Given the description of an element on the screen output the (x, y) to click on. 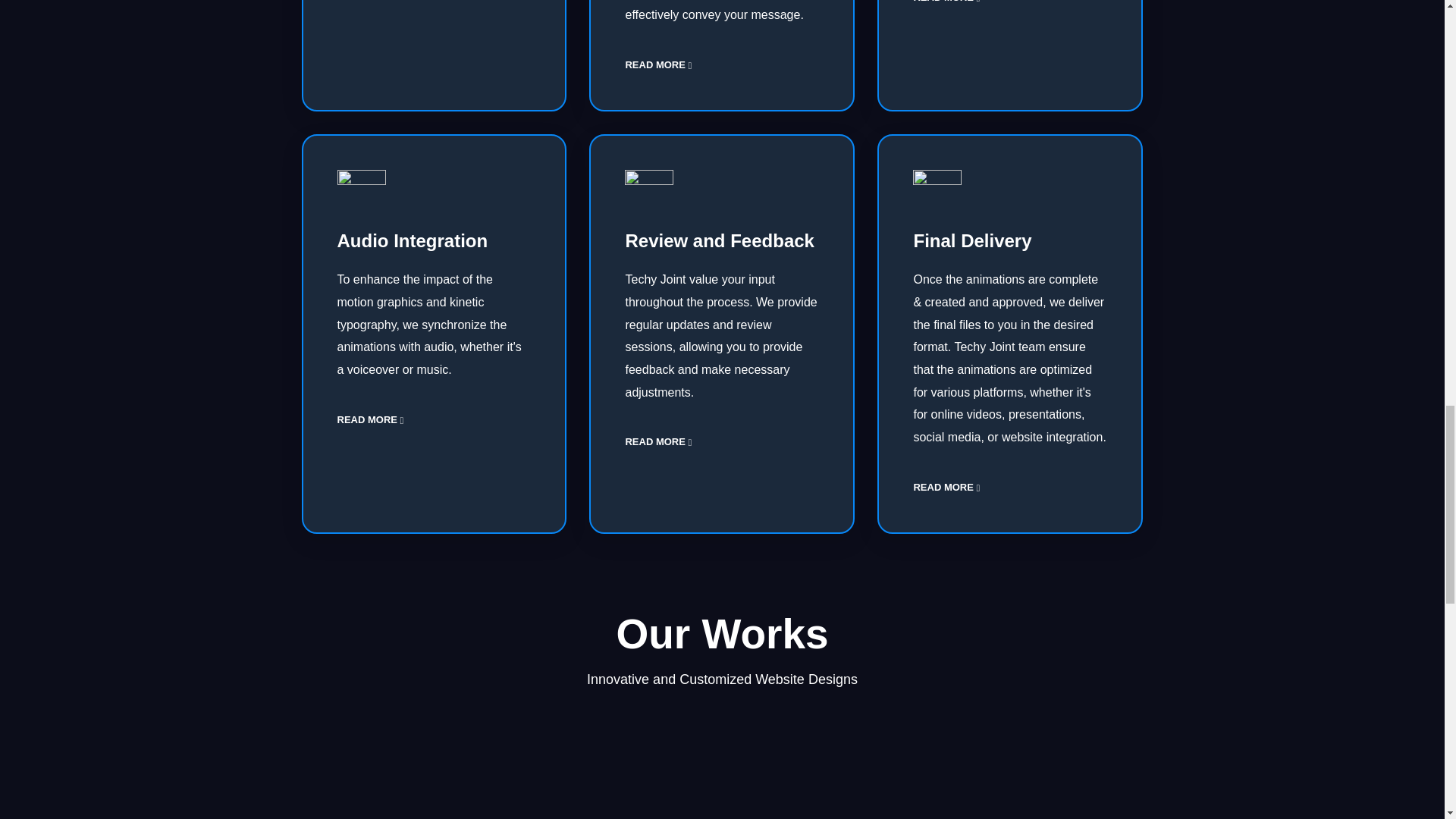
READ MORE (945, 487)
READ MORE (369, 419)
READ MORE (945, 1)
READ MORE (657, 441)
READ MORE (657, 64)
